Given the description of an element on the screen output the (x, y) to click on. 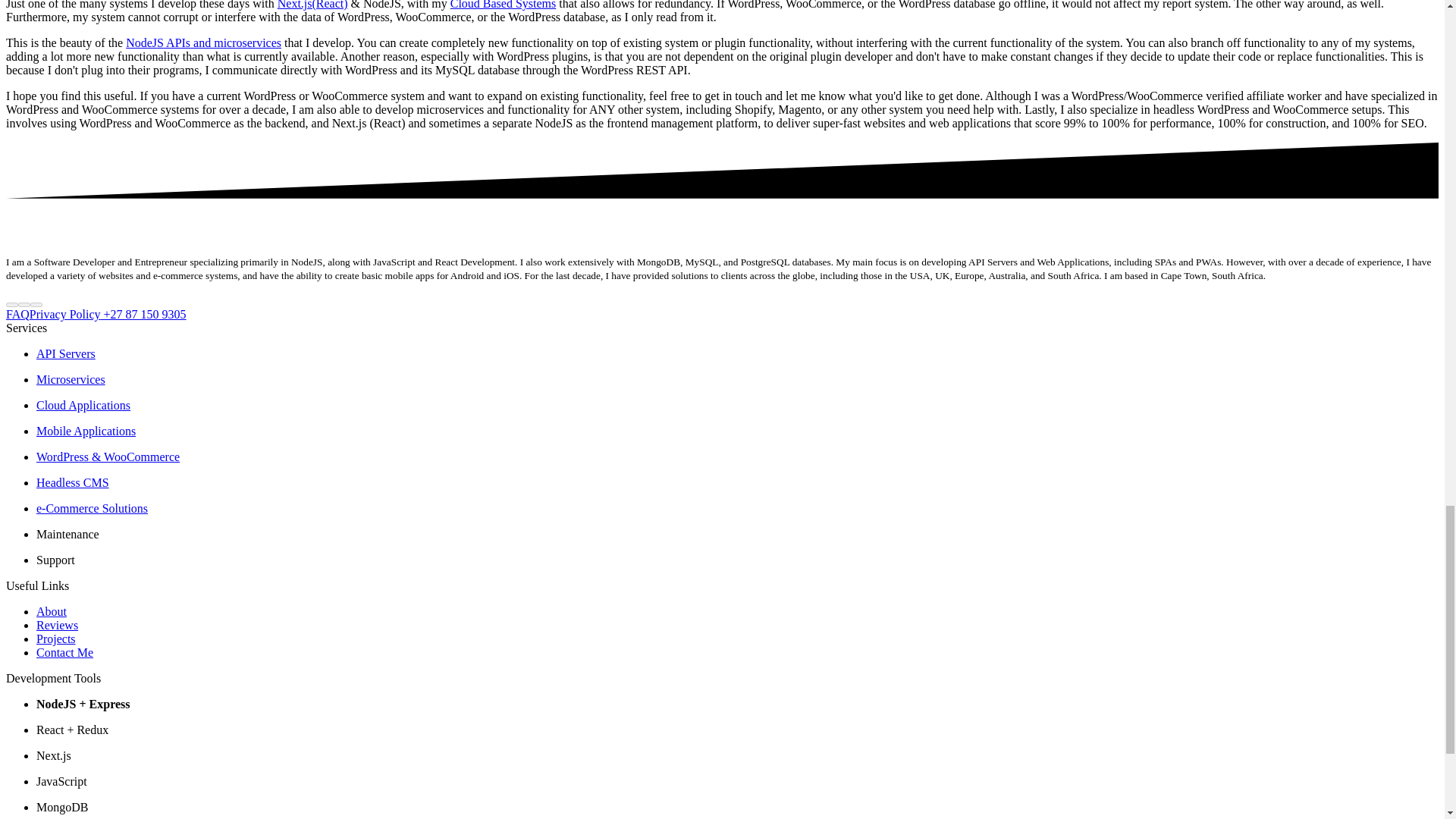
Mobile Applications (85, 431)
NodeJS APIs and microservices (203, 42)
API Servers (66, 353)
Headless CMS (72, 481)
Microservices (70, 379)
FAQ (17, 314)
Projects (55, 638)
Contact Me (64, 652)
Cloud Applications (83, 404)
Cloud Based Systems (502, 4)
e-Commerce Solutions (92, 508)
Reviews (57, 625)
About (51, 611)
Privacy Policy (64, 314)
